Given the description of an element on the screen output the (x, y) to click on. 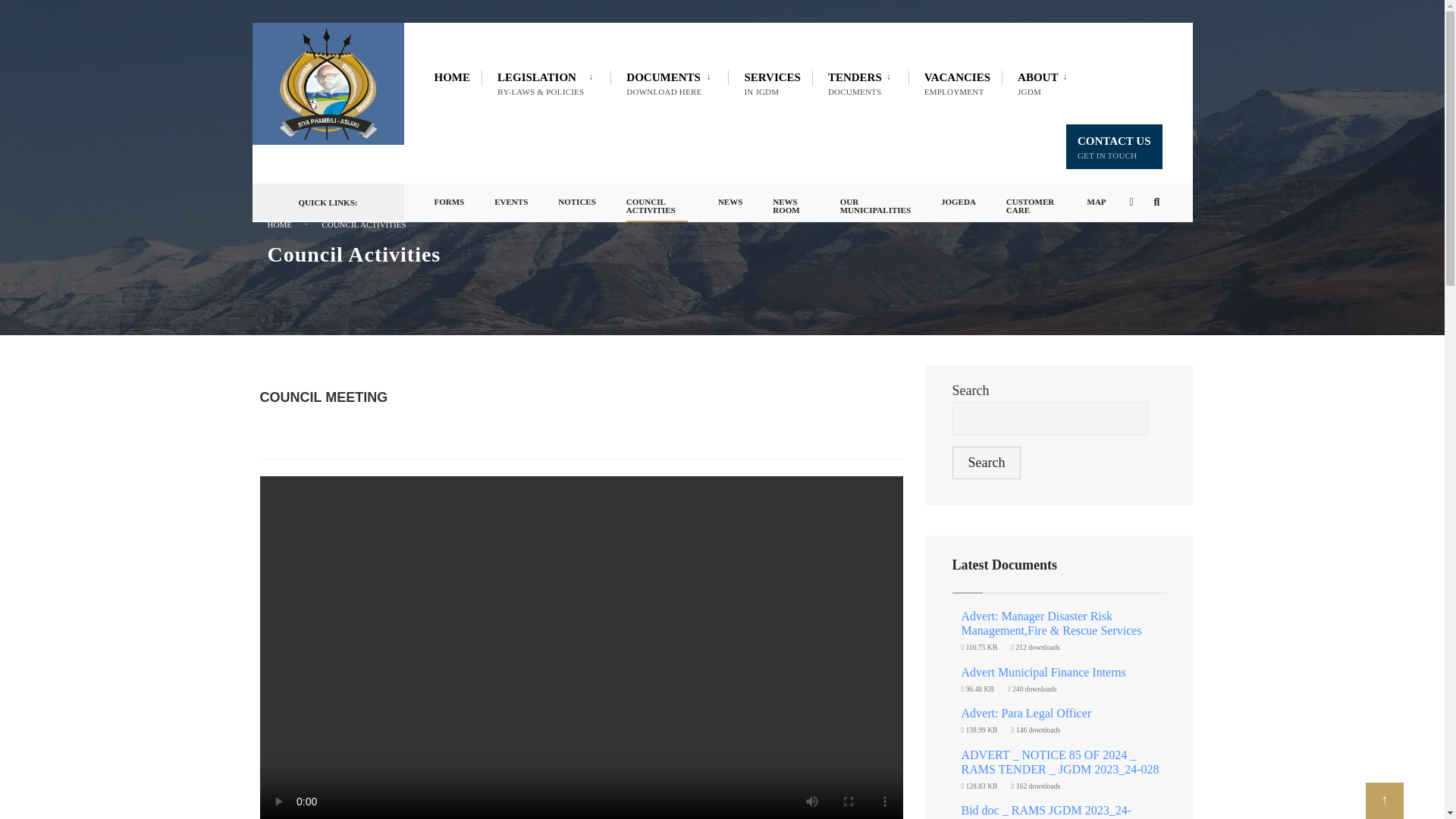
EVENTS (671, 82)
HOME (862, 82)
NOTICES (1113, 146)
Scroll to top (511, 198)
FORMS (1045, 82)
NEWS ROOM (451, 76)
COUNCIL ACTIVITIES (576, 198)
